Given the description of an element on the screen output the (x, y) to click on. 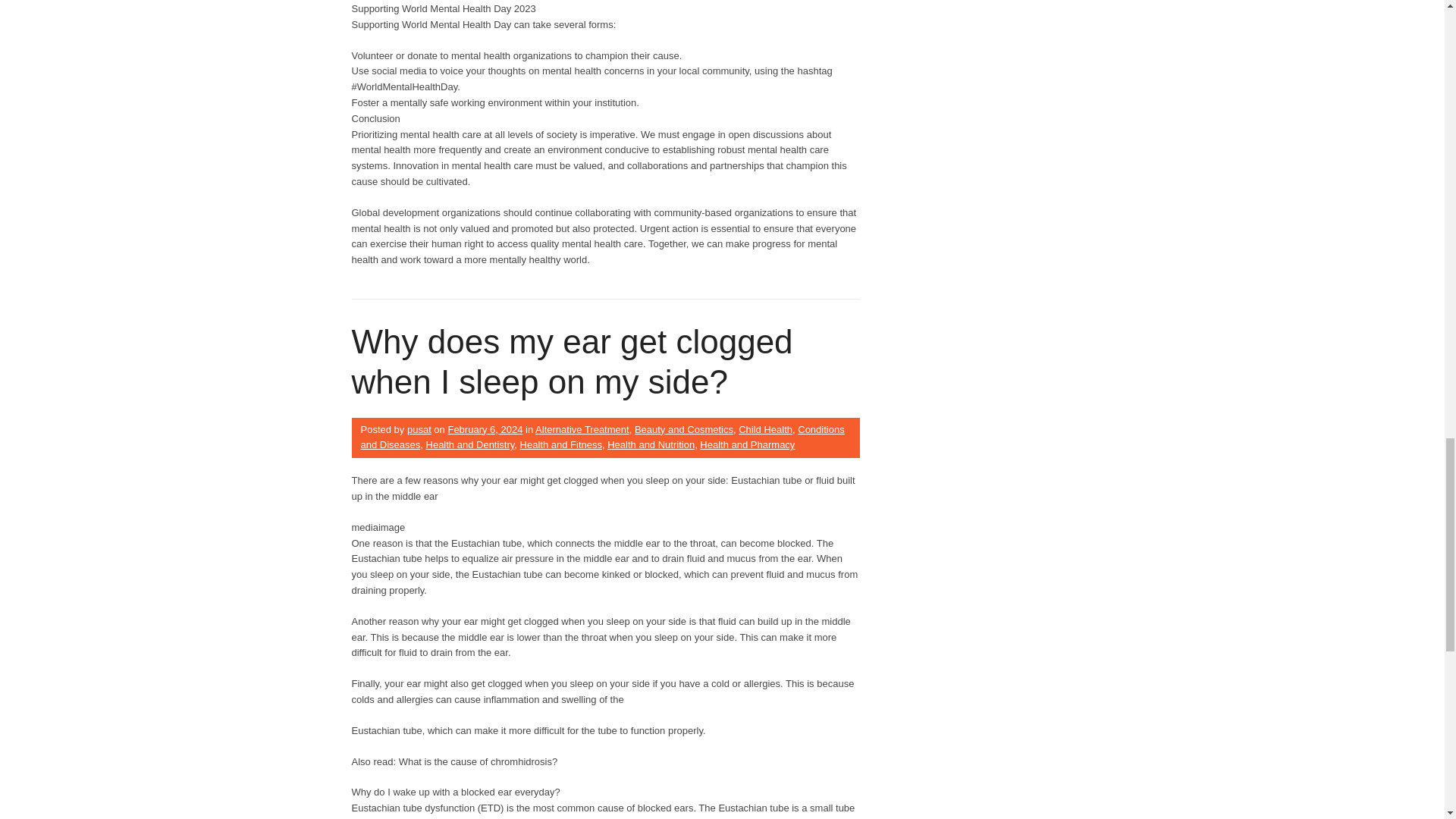
pusat (418, 429)
Health and Dentistry (470, 444)
Child Health (765, 429)
Health and Fitness (560, 444)
Health and Pharmacy (747, 444)
Why does my ear get clogged when I sleep on my side? (572, 361)
Conditions and Diseases (602, 437)
Beauty and Cosmetics (683, 429)
February 6, 2024 (484, 429)
Health and Nutrition (650, 444)
Alternative Treatment (581, 429)
